Given the description of an element on the screen output the (x, y) to click on. 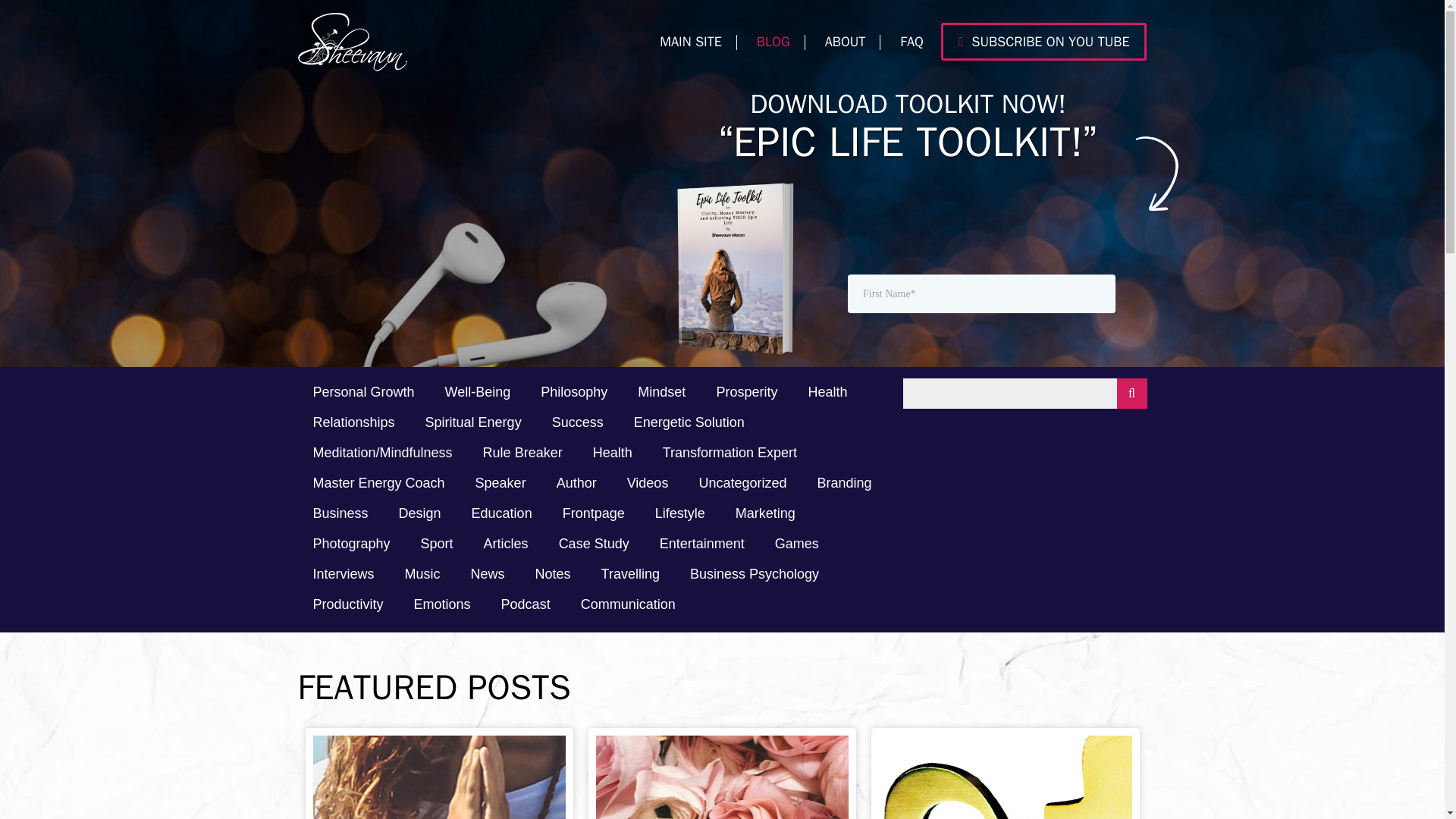
Sport (437, 544)
Marketing (765, 514)
Photography (350, 544)
Well-Being (477, 393)
Success (577, 423)
Branding (844, 484)
MAIN SITE (690, 41)
Health (826, 393)
BLOG (773, 41)
  SUBSCRIBE ON YOU TUBE (1043, 41)
Business (339, 514)
Mindset (661, 393)
Energetic Solution (689, 423)
Philosophy (574, 393)
Lifestyle (680, 514)
